Given the description of an element on the screen output the (x, y) to click on. 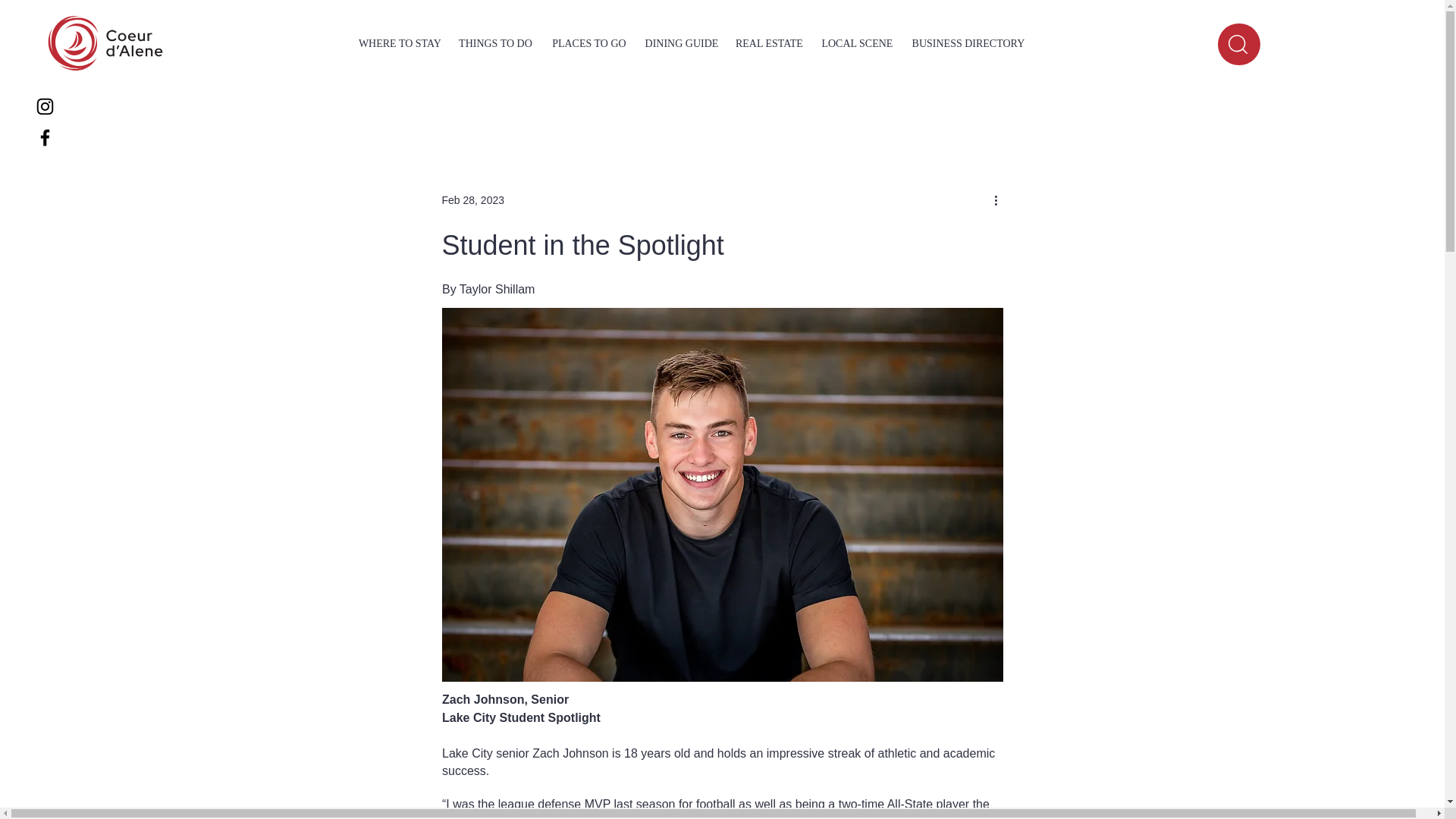
DINING GUIDE (681, 44)
Feb 28, 2023 (472, 200)
WHERE TO STAY (400, 44)
REAL ESTATE (768, 44)
PLACES TO GO (588, 44)
